Given the description of an element on the screen output the (x, y) to click on. 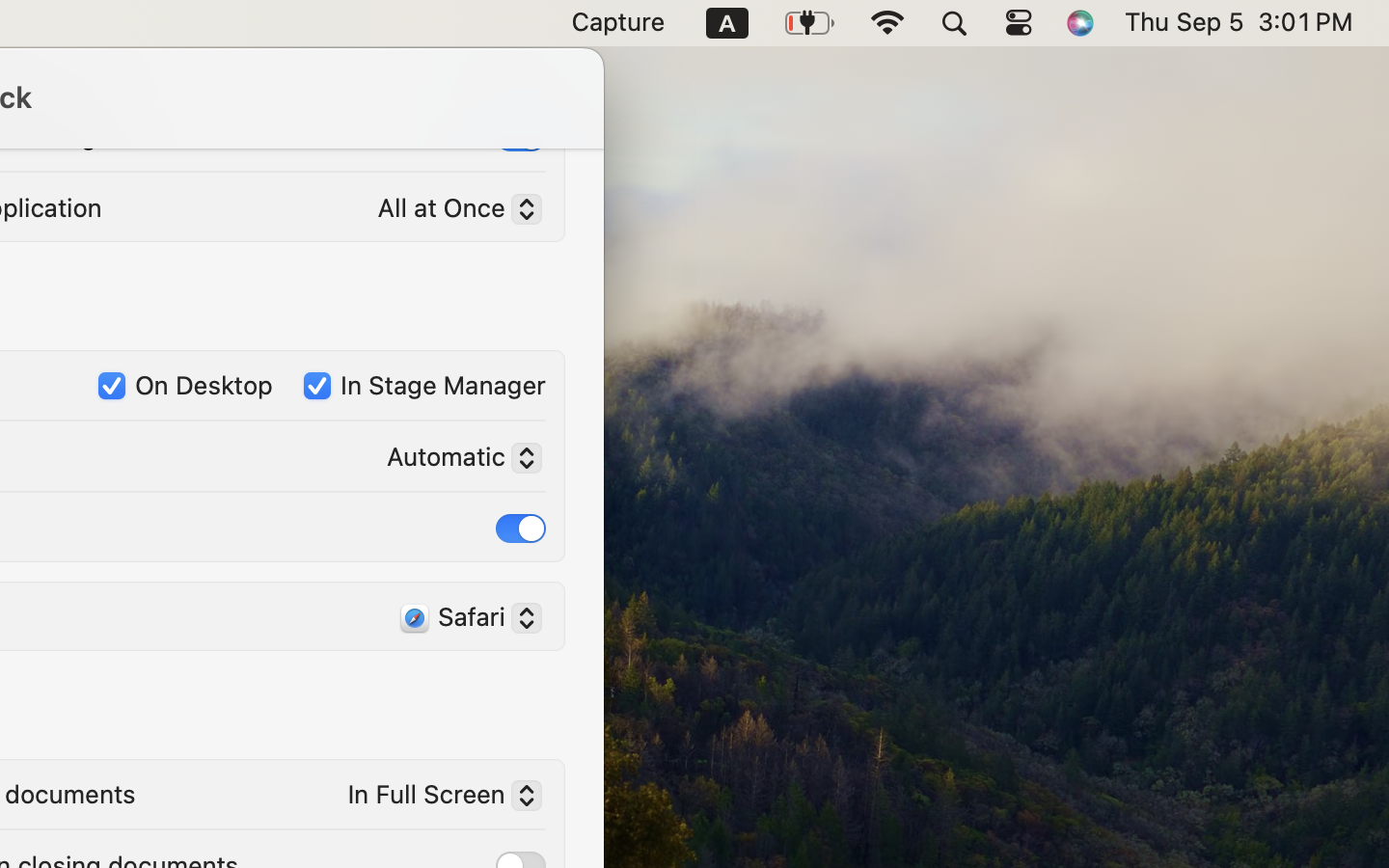
All at Once Element type: AXPopUpButton (451, 211)
Safari Element type: AXPopUpButton (462, 620)
Automatic Element type: AXPopUpButton (455, 459)
In Full Screen Element type: AXPopUpButton (436, 797)
